Given the description of an element on the screen output the (x, y) to click on. 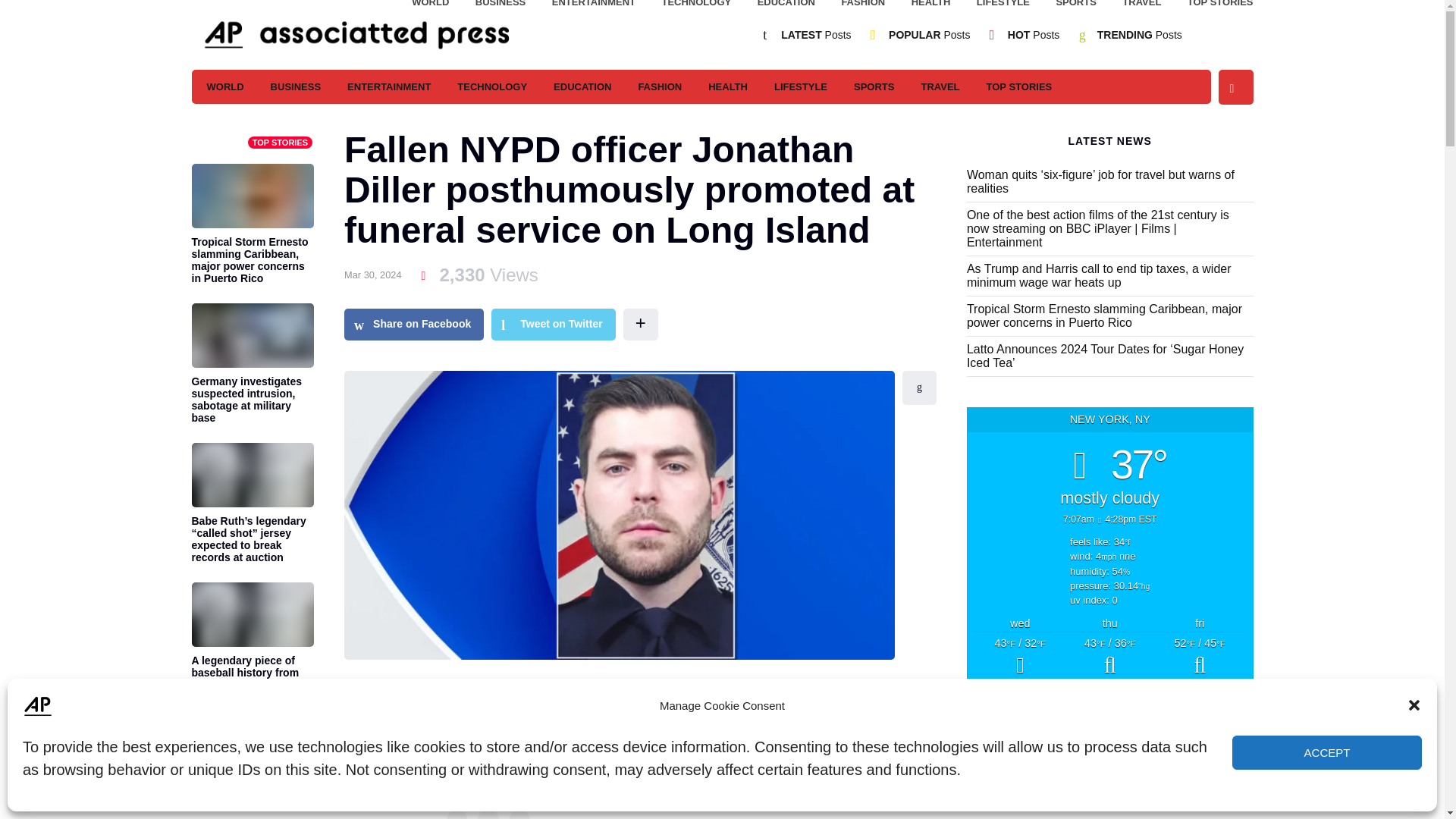
HOT Posts (1033, 35)
TECHNOLOGY (695, 5)
WORLD (430, 5)
ENTERTAINMENT (592, 5)
WORLD (224, 86)
BUSINESS (295, 86)
TRENDING Posts (1139, 35)
LIFESTYLE (1002, 5)
LATEST Posts (815, 35)
FASHION (863, 5)
